Given the description of an element on the screen output the (x, y) to click on. 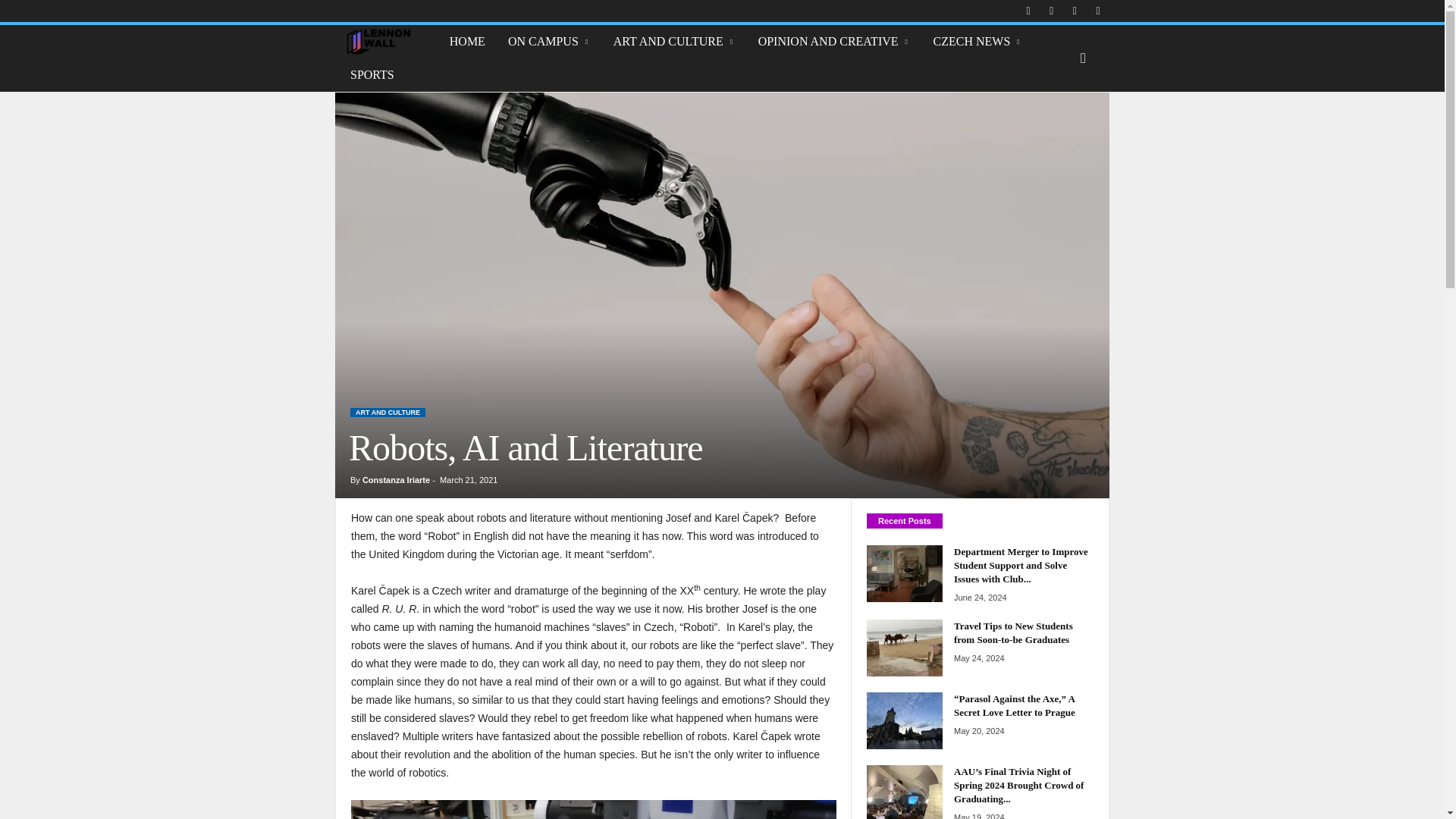
HOME (467, 41)
ART AND CULTURE (674, 41)
Anglo-American University Student Magazine (378, 41)
Travel Tips to New Students from Soon-to-be Graduates (904, 647)
Mail (1074, 11)
OPINION AND CREATIVE (833, 41)
Instagram (1051, 11)
Facebook (1027, 11)
Lennon Wall (386, 41)
Twitter (1097, 11)
ON CAMPUS (549, 41)
Travel Tips to New Students from Soon-to-be Graduates (1013, 632)
